Given the description of an element on the screen output the (x, y) to click on. 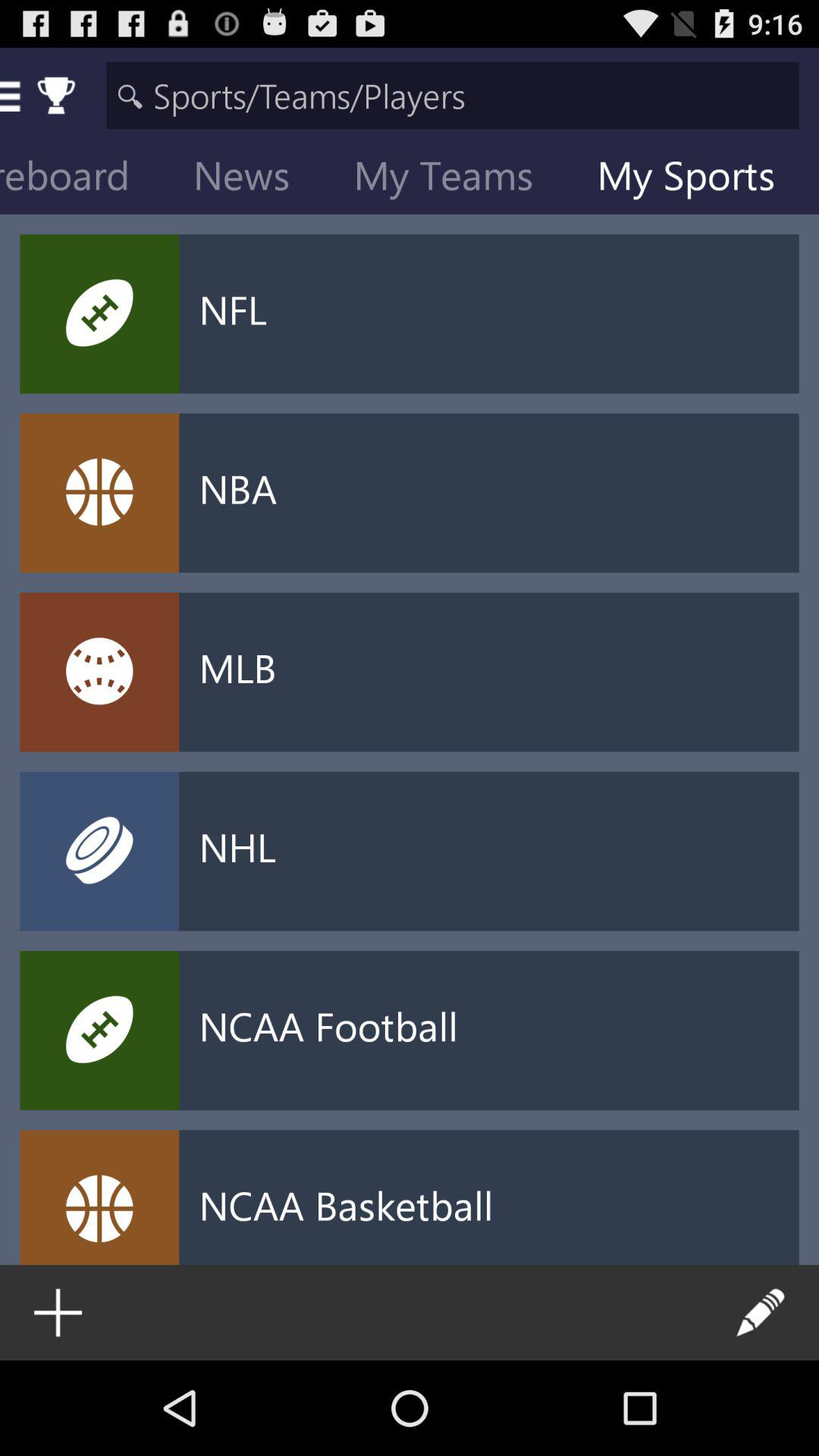
launch icon to the left of the news icon (86, 178)
